Given the description of an element on the screen output the (x, y) to click on. 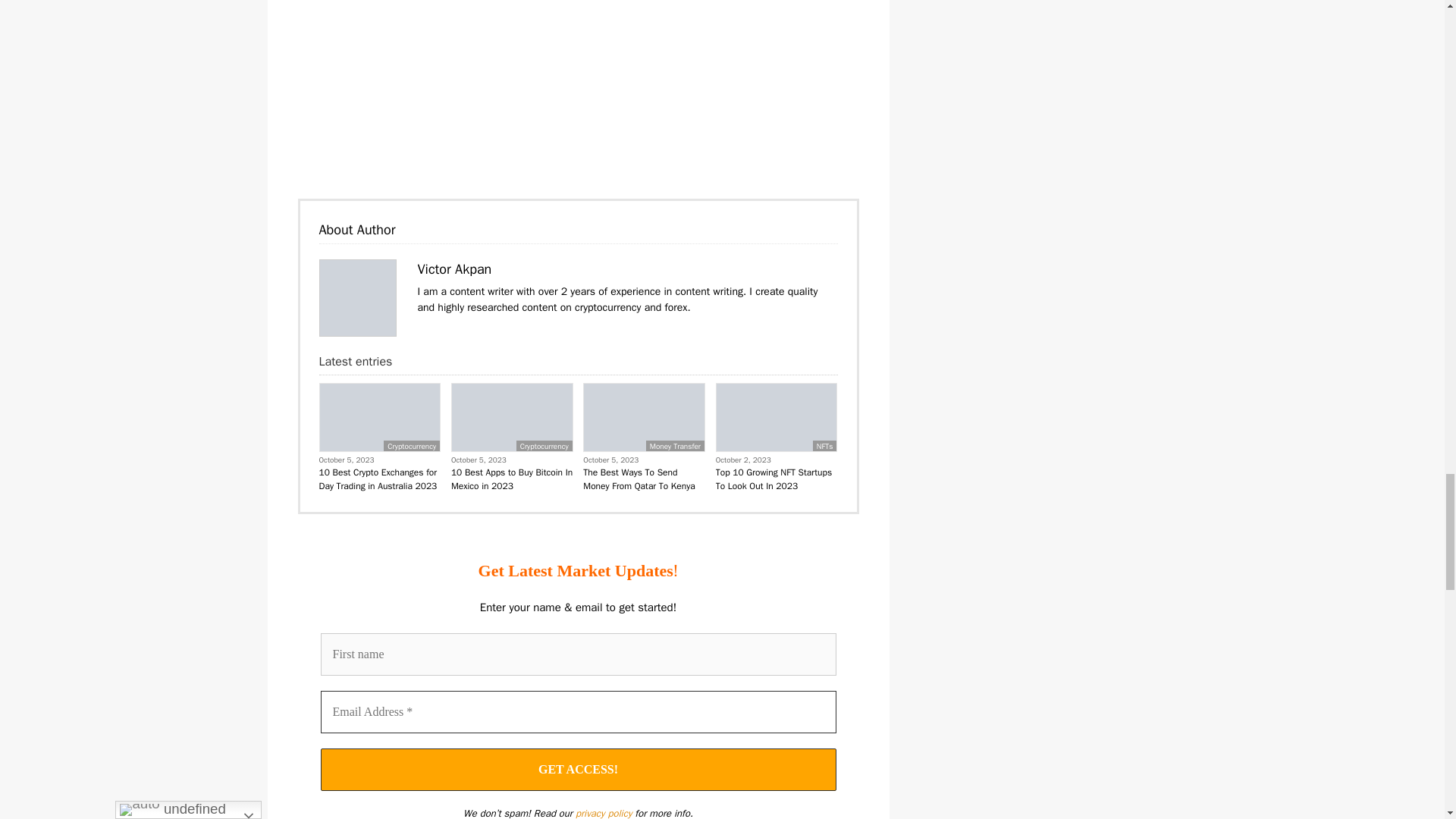
10 Best Crypto Exchanges for Day Trading in Australia 2023 1 (380, 417)
The Best Cardano NFT Marketplace In 2023 6 (357, 297)
The Best Ways To Send Money From Qatar To Kenya 3 (643, 417)
10 Best Crypto Exchanges for Day Trading in Australia 2023 (379, 479)
Email Address (577, 712)
10 Best Apps to Buy Bitcoin In Mexico in 2023 2 (511, 417)
Cryptocurrency (411, 445)
Top 10 Growing NFT Startups To Look Out In 2023 4 (776, 417)
GET ACCESS! (577, 769)
First name (577, 654)
